Given the description of an element on the screen output the (x, y) to click on. 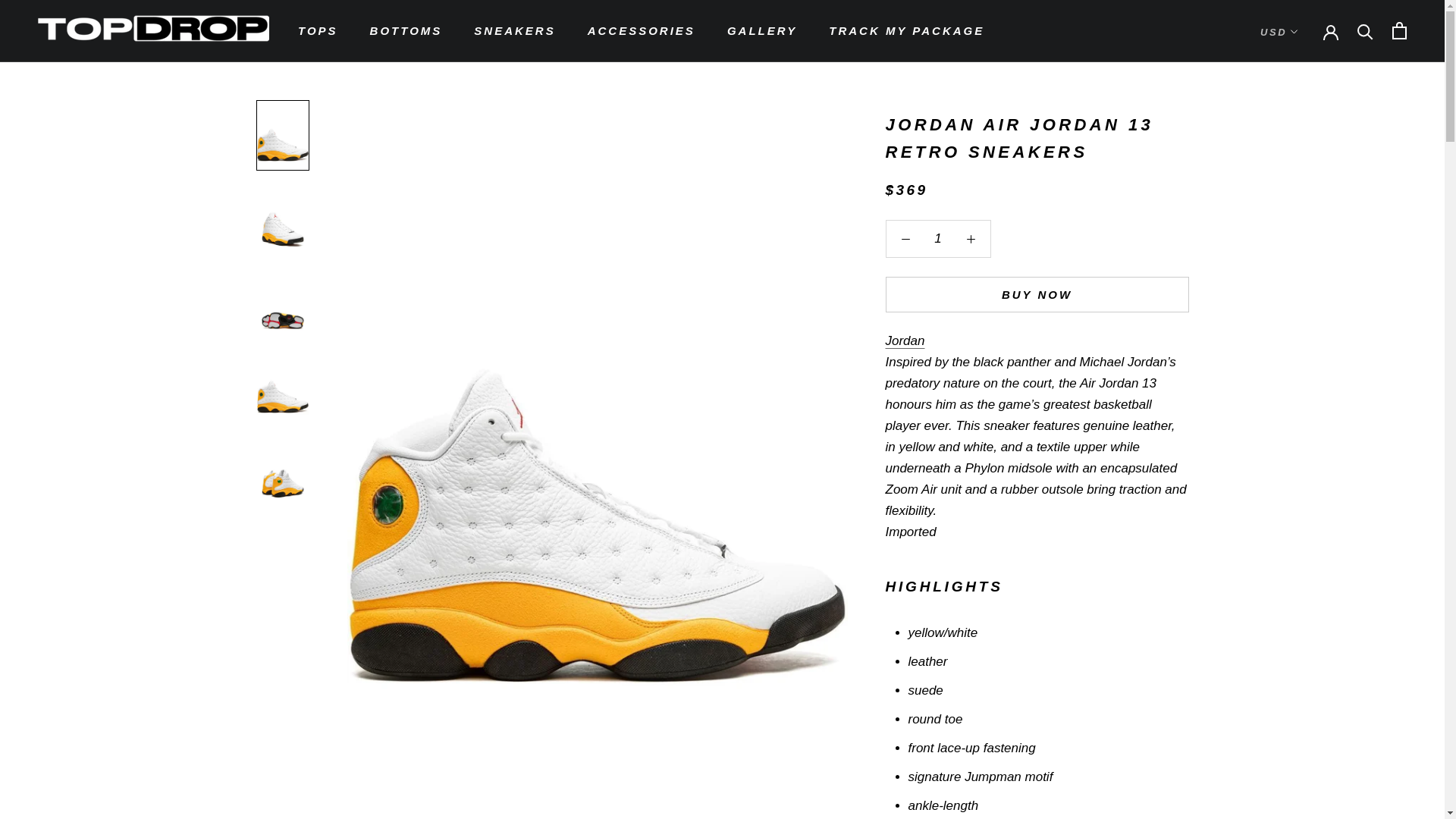
TOPS (317, 30)
BOTTOMS (405, 30)
Currency selector (1279, 31)
1 (938, 238)
